Given the description of an element on the screen output the (x, y) to click on. 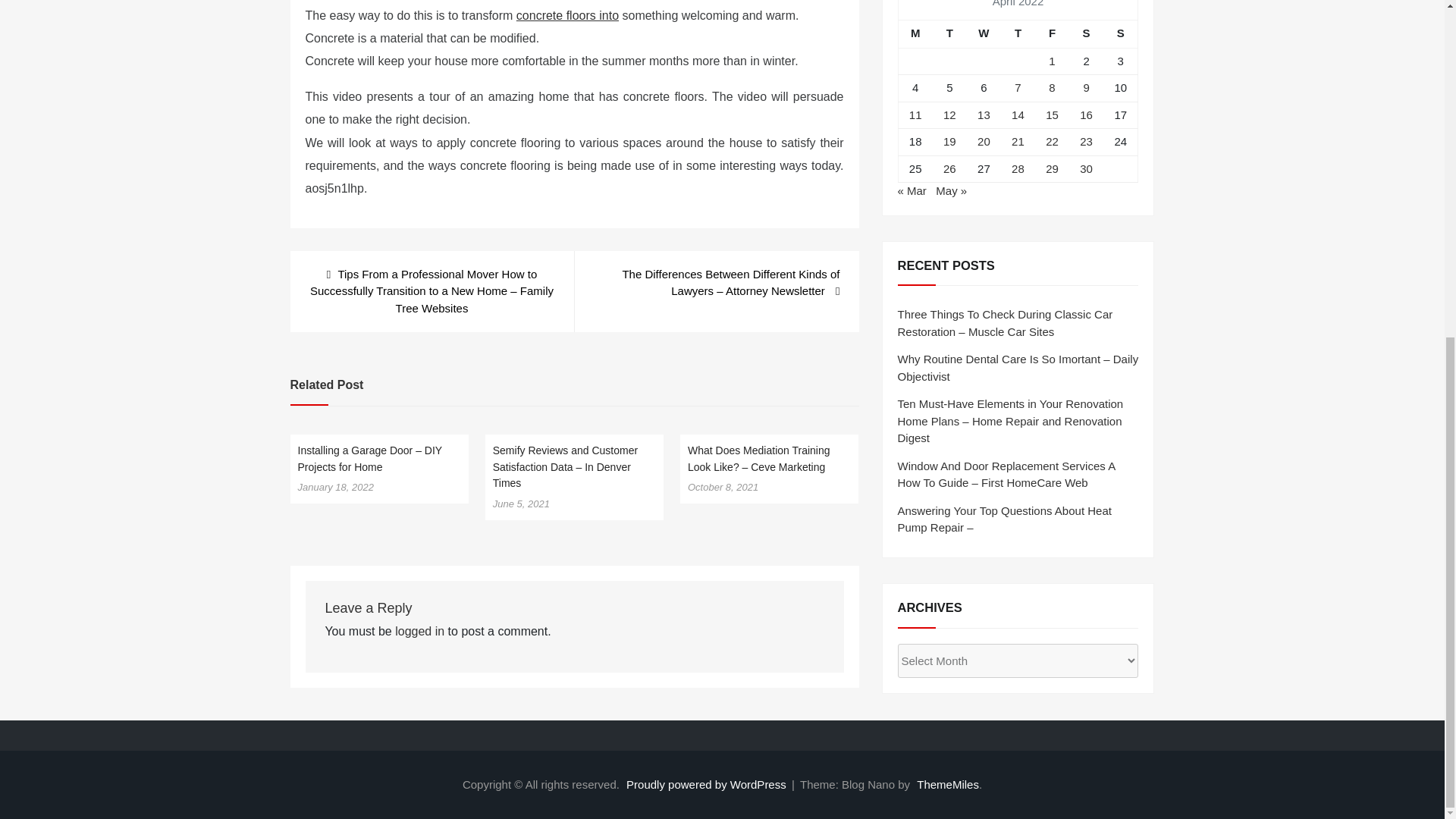
Friday (1051, 33)
concrete floors into (567, 15)
Saturday (1085, 33)
14 (1018, 114)
15 (1051, 114)
Sunday (1120, 33)
Wednesday (983, 33)
11 (914, 114)
13 (983, 114)
16 (1086, 114)
